Given the description of an element on the screen output the (x, y) to click on. 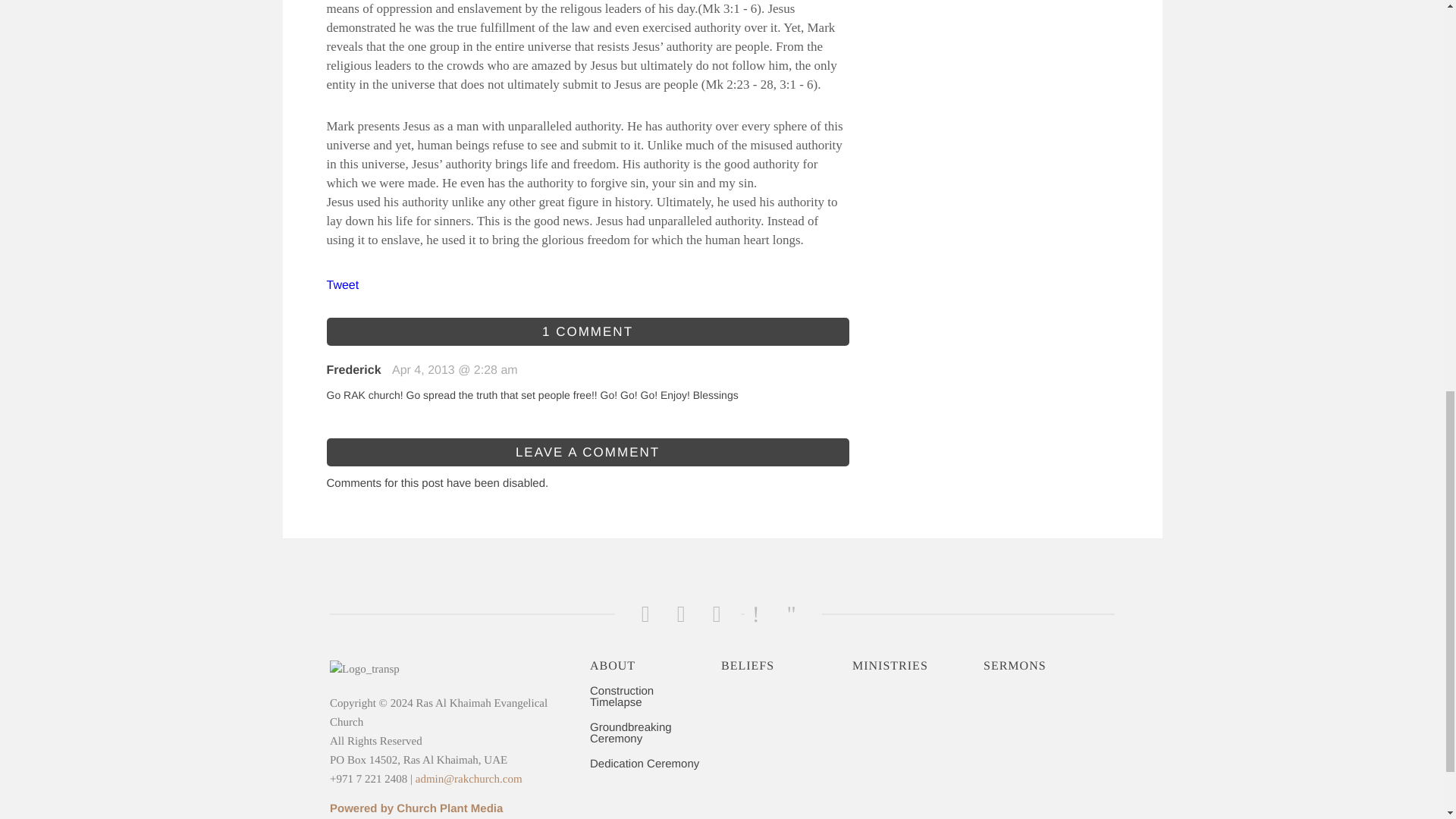
Frederick (353, 369)
Tweet (342, 285)
